Given the description of an element on the screen output the (x, y) to click on. 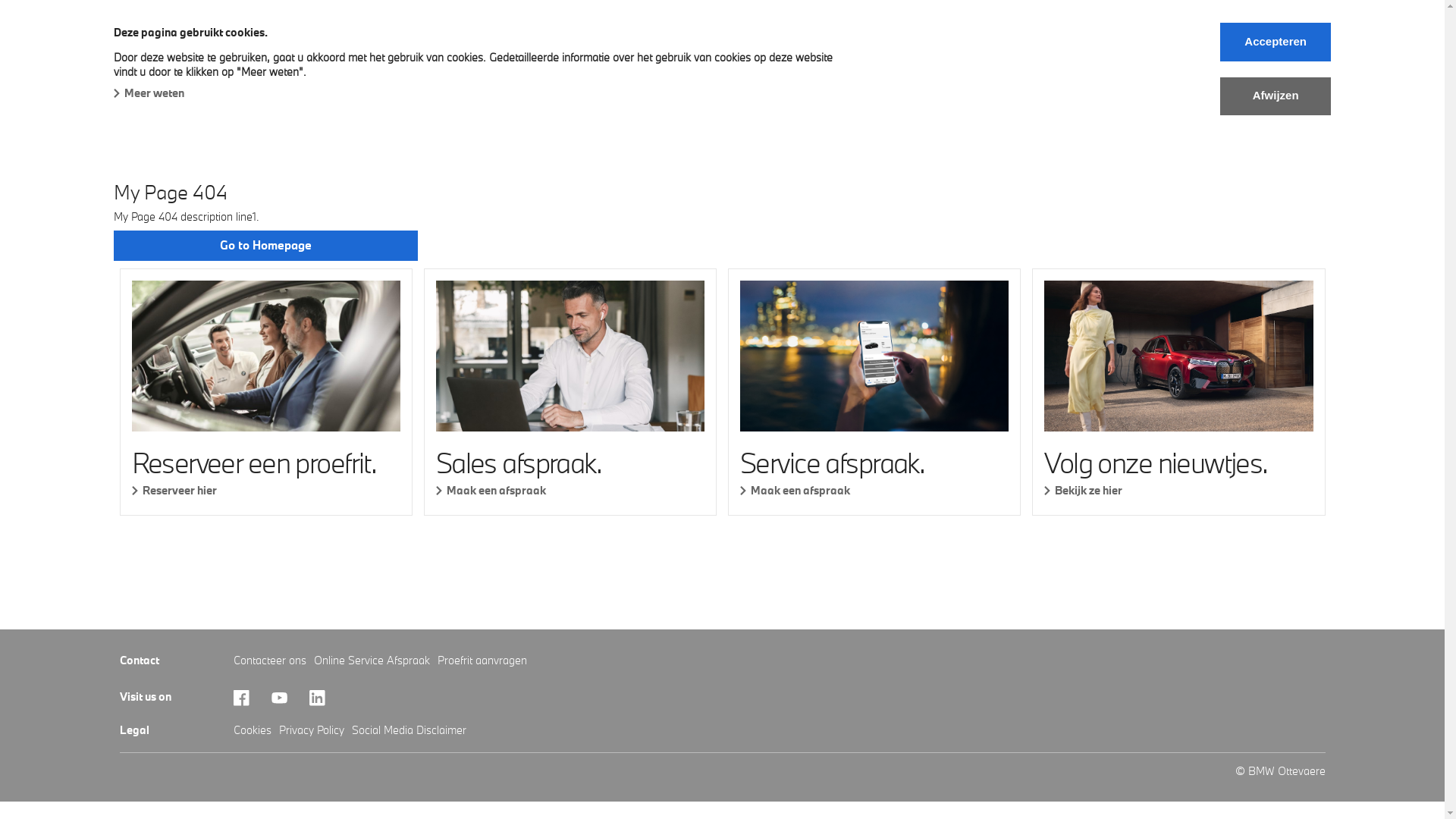
Proefrit aanvragen Element type: text (481, 659)
Cookies Element type: text (252, 729)
Contacteer ons Element type: text (269, 659)
Social Media Disclaimer Element type: text (408, 729)
Naverkoop Element type: text (571, 63)
Jobs Element type: text (865, 63)
Nieuwe wagens Element type: text (310, 63)
Reserveer hier Element type: text (265, 489)
Bekijk ze hier Element type: text (1178, 489)
Snel leverbare wagens Element type: text (448, 63)
Privacy Policy Element type: text (311, 729)
Online Service Afspraak Element type: text (371, 659)
Skip to main content Element type: text (0, 0)
BMW Financial Services Element type: text (697, 63)
BMW Plug-in Hybride Element type: text (178, 63)
Meer weten Element type: text (148, 92)
Go to Homepage Element type: text (265, 245)
Afwijzen Element type: text (1275, 95)
BMW Ottevaere Element type: text (159, 31)
News Element type: text (806, 63)
Maak een afspraak Element type: text (570, 489)
Contact Element type: text (929, 63)
Maak een afspraak Element type: text (874, 489)
Accepteren Element type: text (1275, 41)
